Given the description of an element on the screen output the (x, y) to click on. 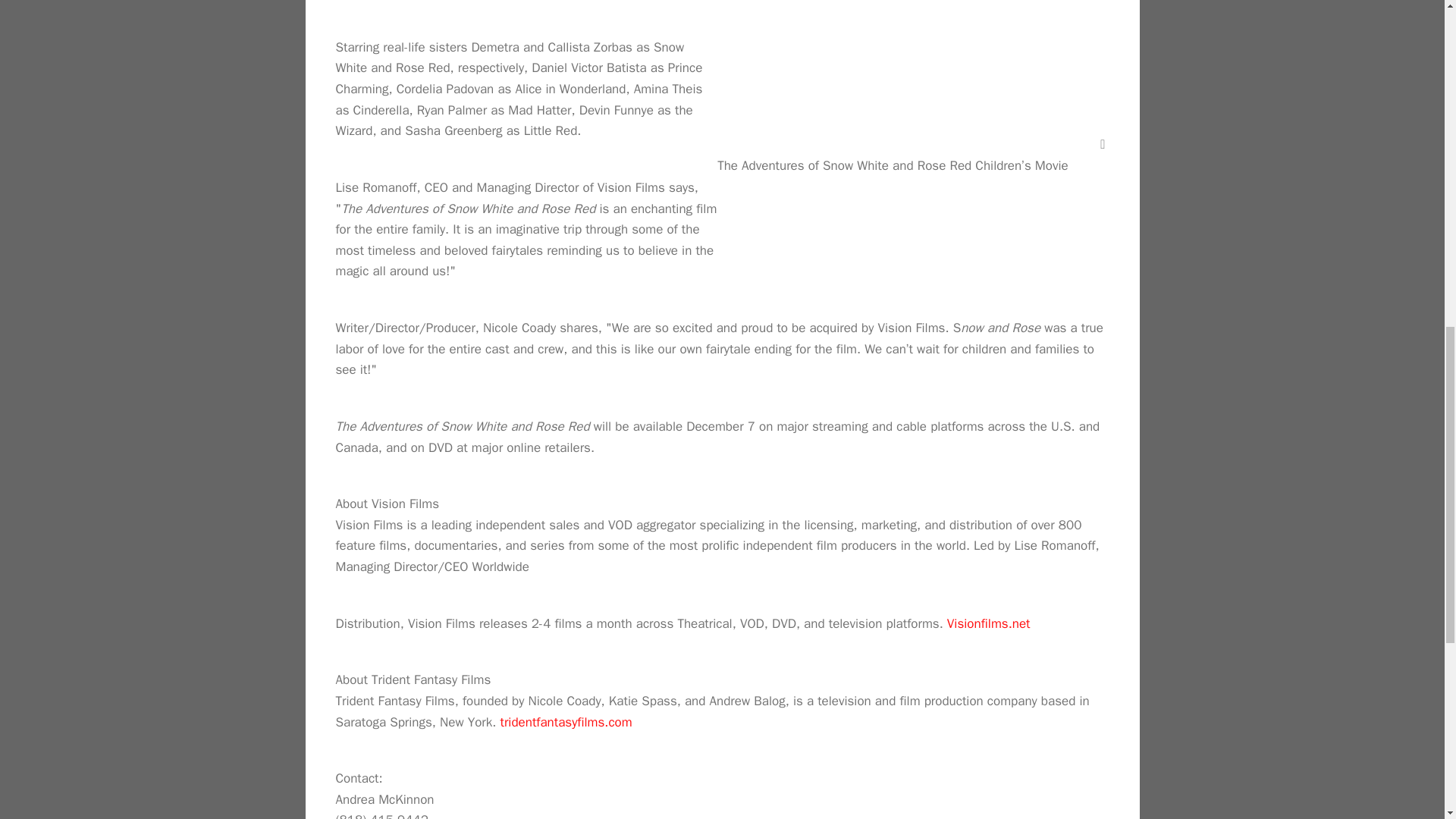
The Adventures of Snow White and Rose Red Children's Movie (906, 74)
tridentfantasyfilms.com (565, 722)
Visionfilms.net (988, 623)
